Given the description of an element on the screen output the (x, y) to click on. 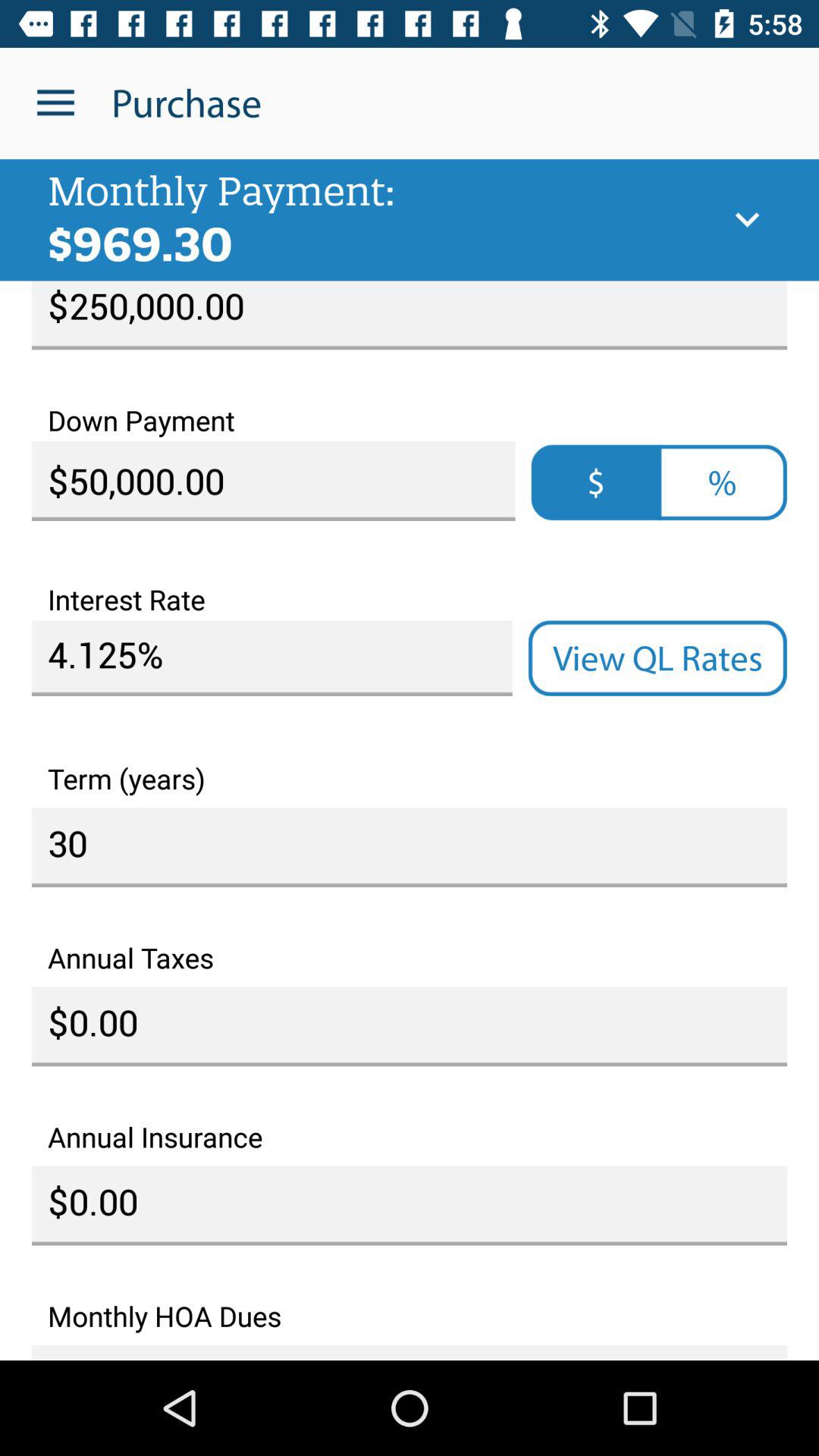
tap item above the monthly payment: icon (55, 103)
